Given the description of an element on the screen output the (x, y) to click on. 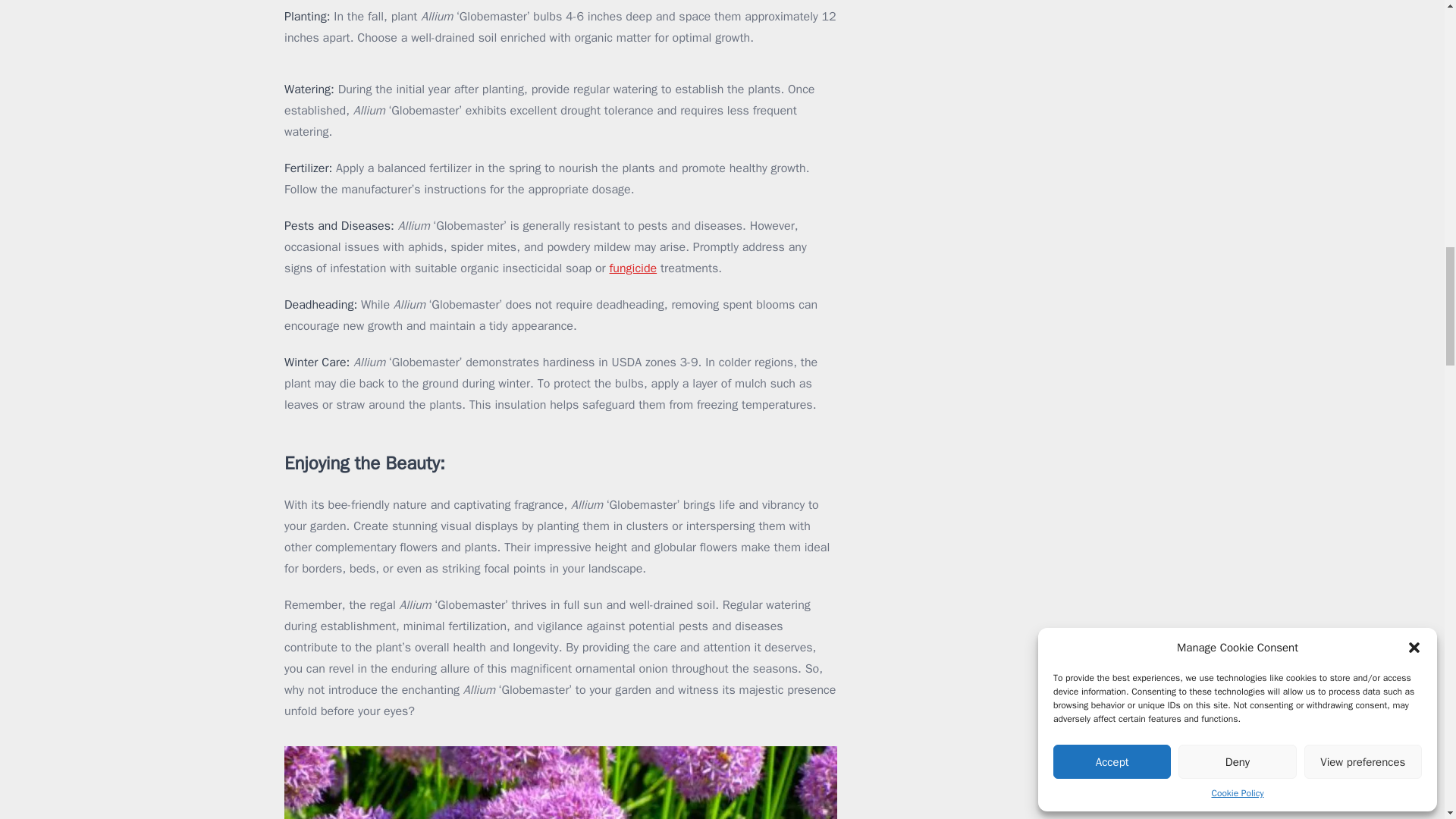
fungicide (634, 268)
